Given the description of an element on the screen output the (x, y) to click on. 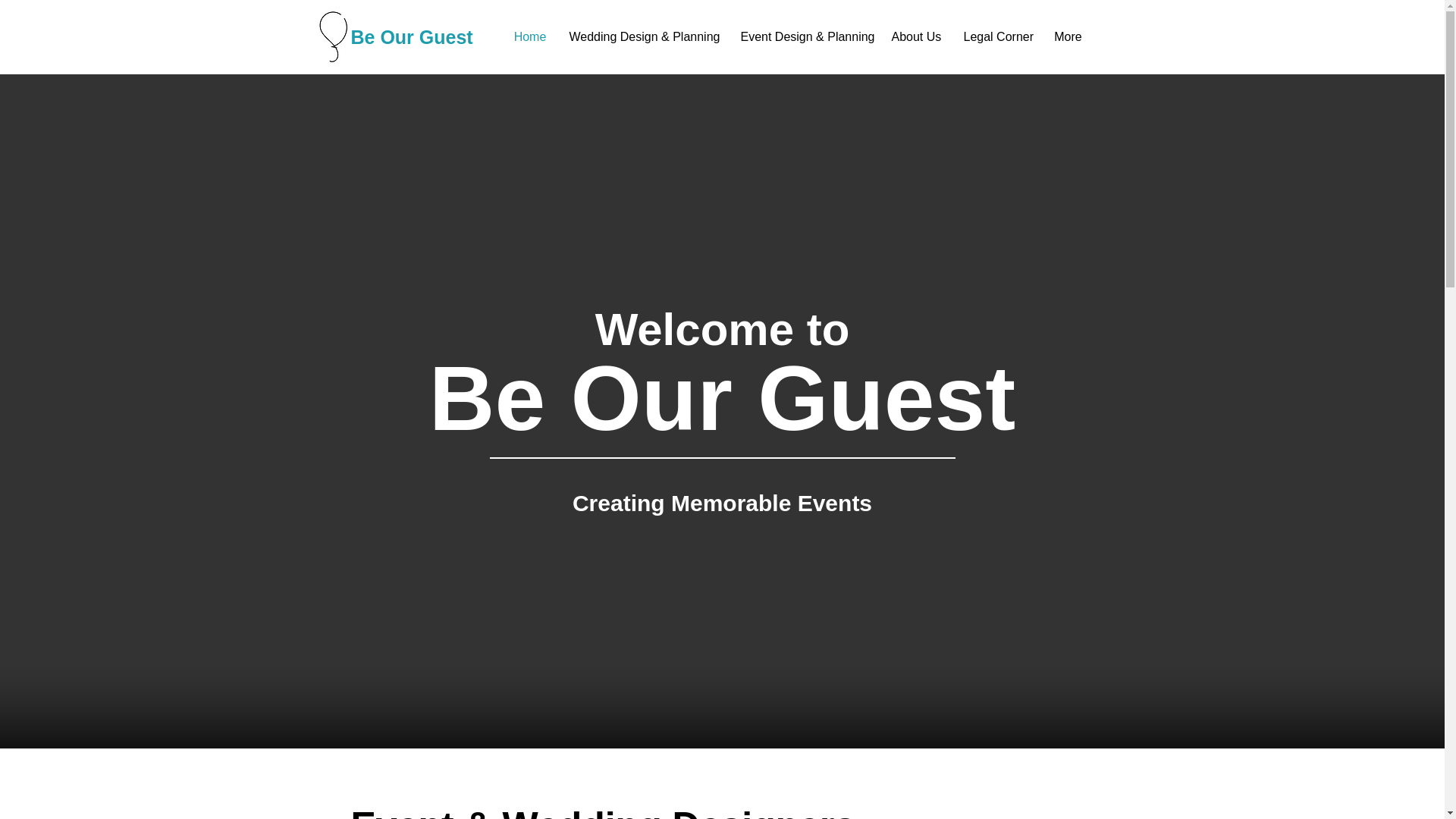
Home (529, 37)
Legal Corner (997, 37)
About Us (915, 37)
Be Our Guest (410, 37)
